Given the description of an element on the screen output the (x, y) to click on. 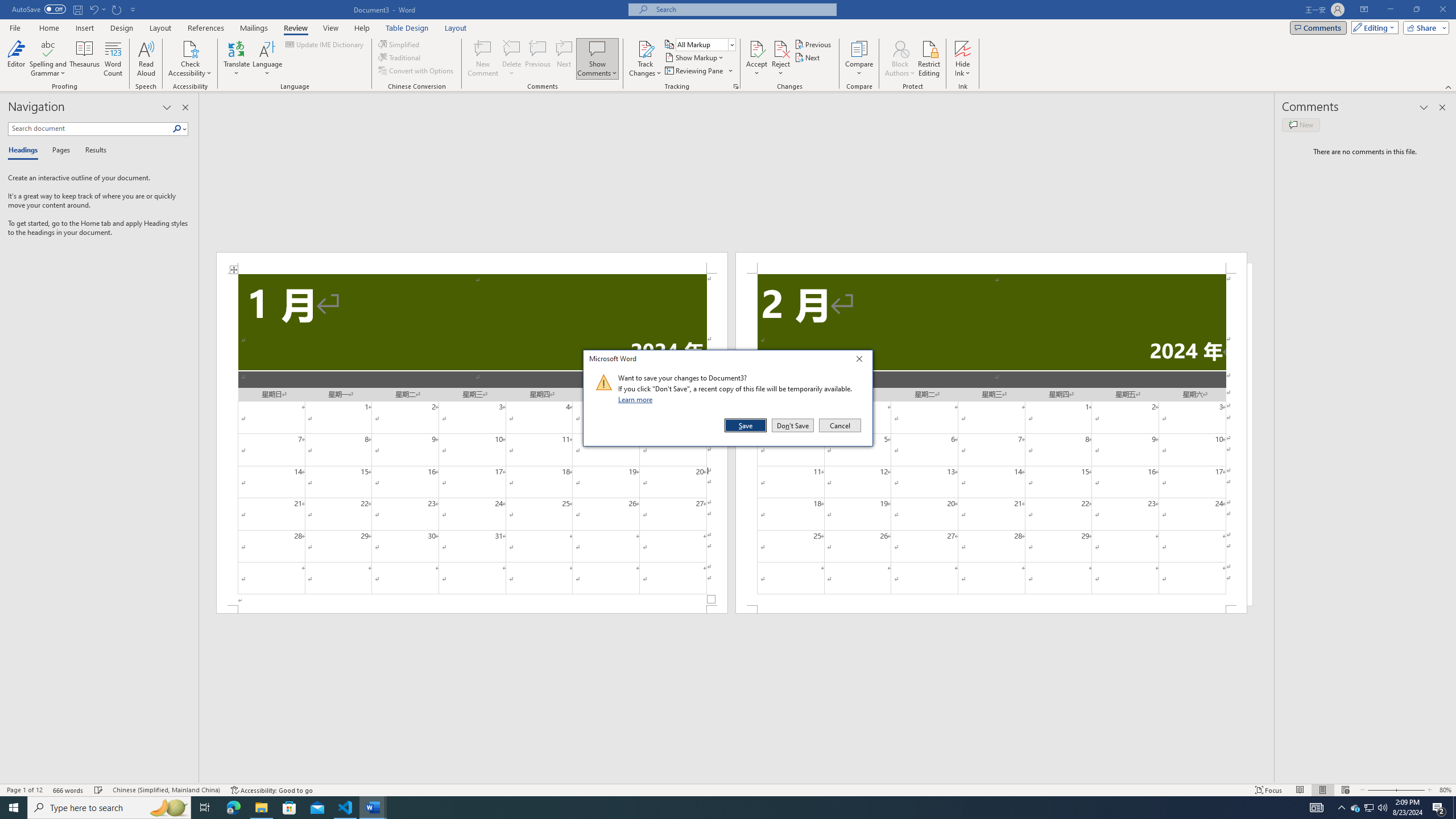
Thesaurus... (84, 58)
Search document (89, 128)
Reject (780, 58)
Microsoft search (742, 9)
Table Design (407, 28)
Notification Chevron (1341, 807)
Class: MsoCommandBar (728, 789)
Track Changes (644, 48)
Search highlights icon opens search home window (167, 807)
Accessibility Checker Accessibility: Good to go (271, 790)
